Given the description of an element on the screen output the (x, y) to click on. 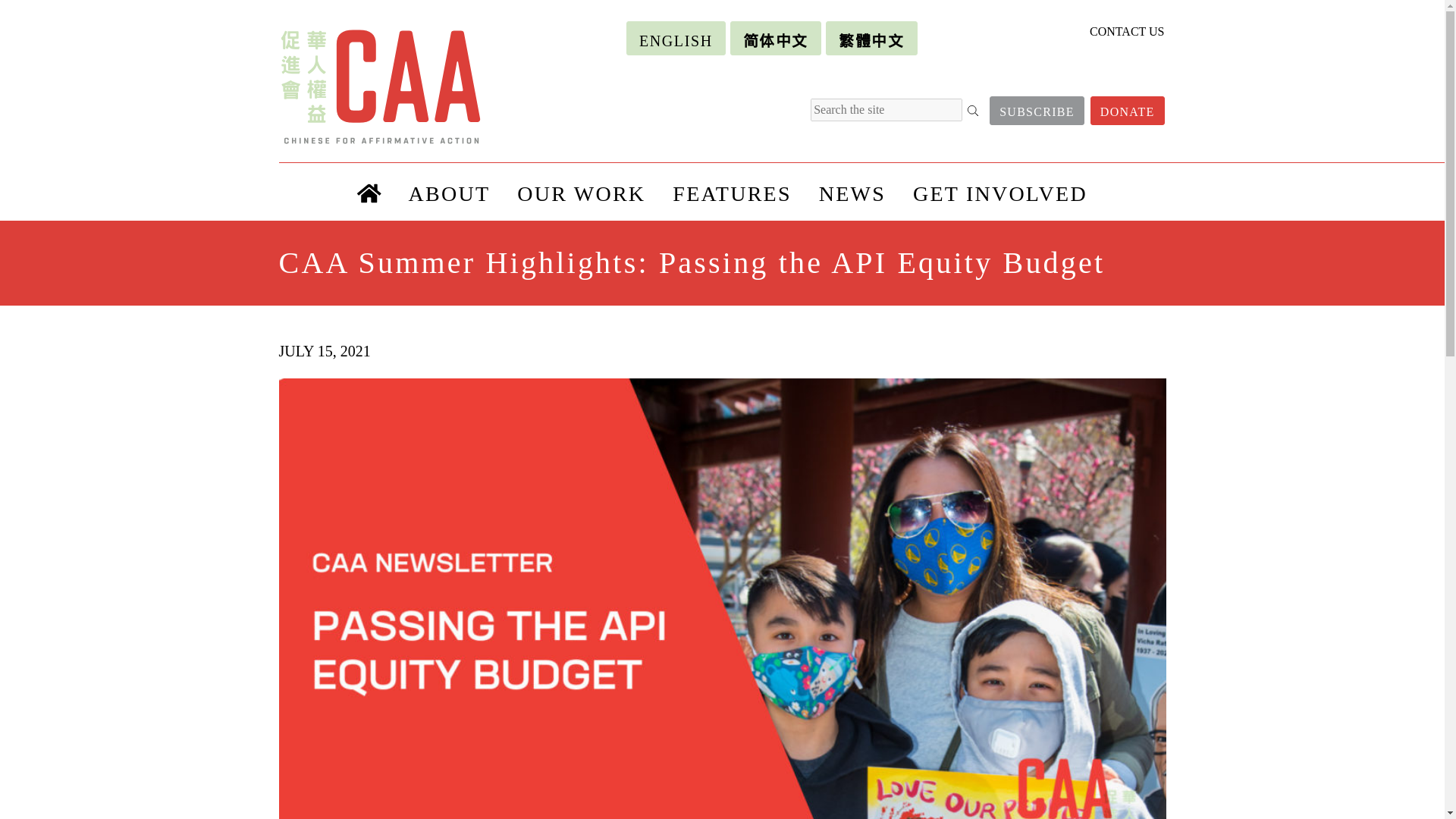
FEATURES (732, 191)
ABOUT (449, 191)
SUBSCRIBE (1037, 110)
CAA (387, 86)
ENGLISH (675, 38)
OUR WORK (581, 191)
CONTACT US (1126, 31)
DONATE (1127, 110)
